Given the description of an element on the screen output the (x, y) to click on. 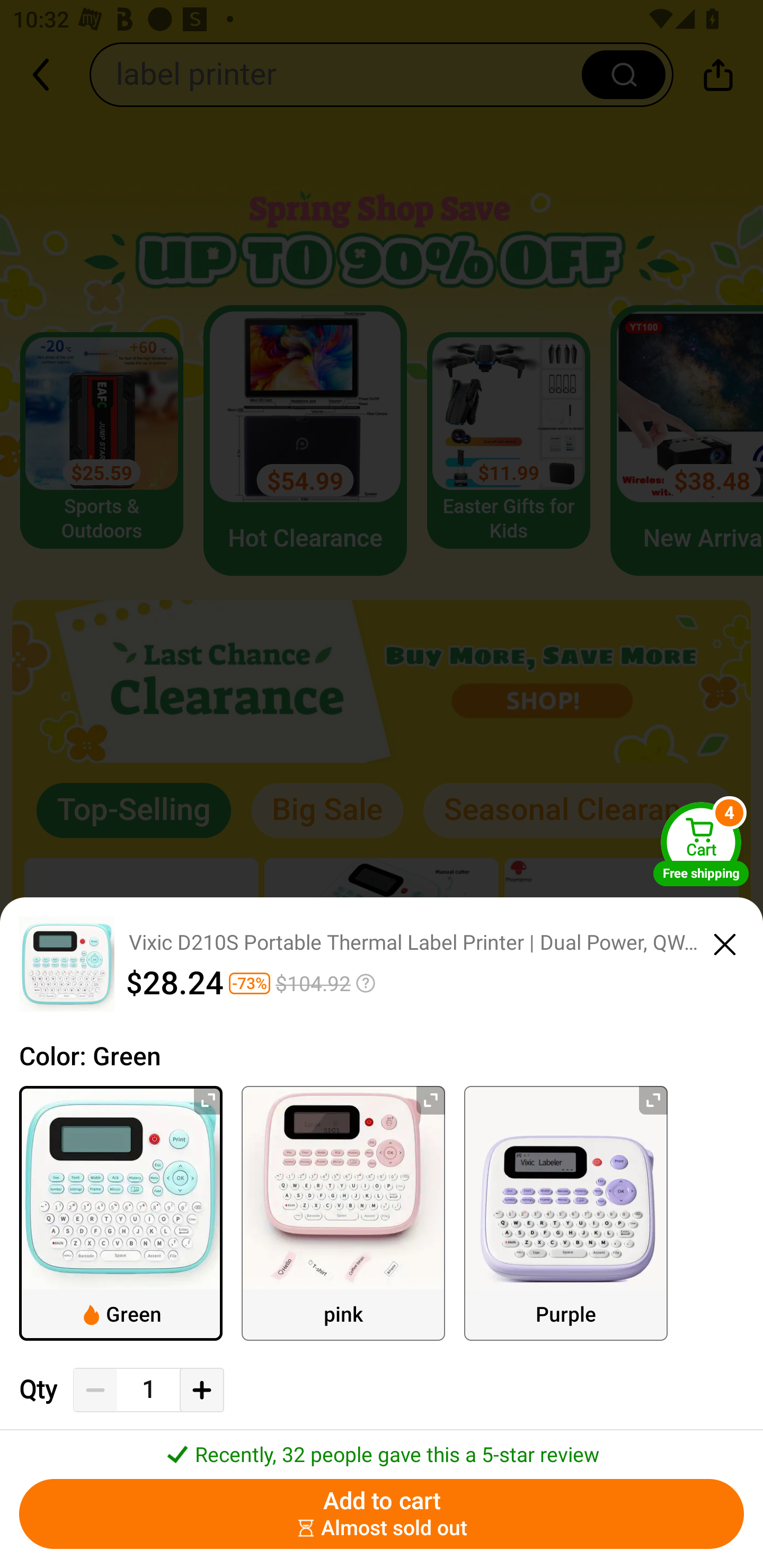
Cart Free shipping Cart (701, 844)
close (724, 941)
Green ￼Green (120, 1213)
pink (342, 1213)
Purple (565, 1213)
Decrease Quantity Button (95, 1389)
Add Quantity Button (201, 1389)
1 (148, 1389)
￼￼Recently, 32 people gave this a 5-star review (381, 1448)
Add to cart ￼￼Almost sold out (381, 1513)
